Given the description of an element on the screen output the (x, y) to click on. 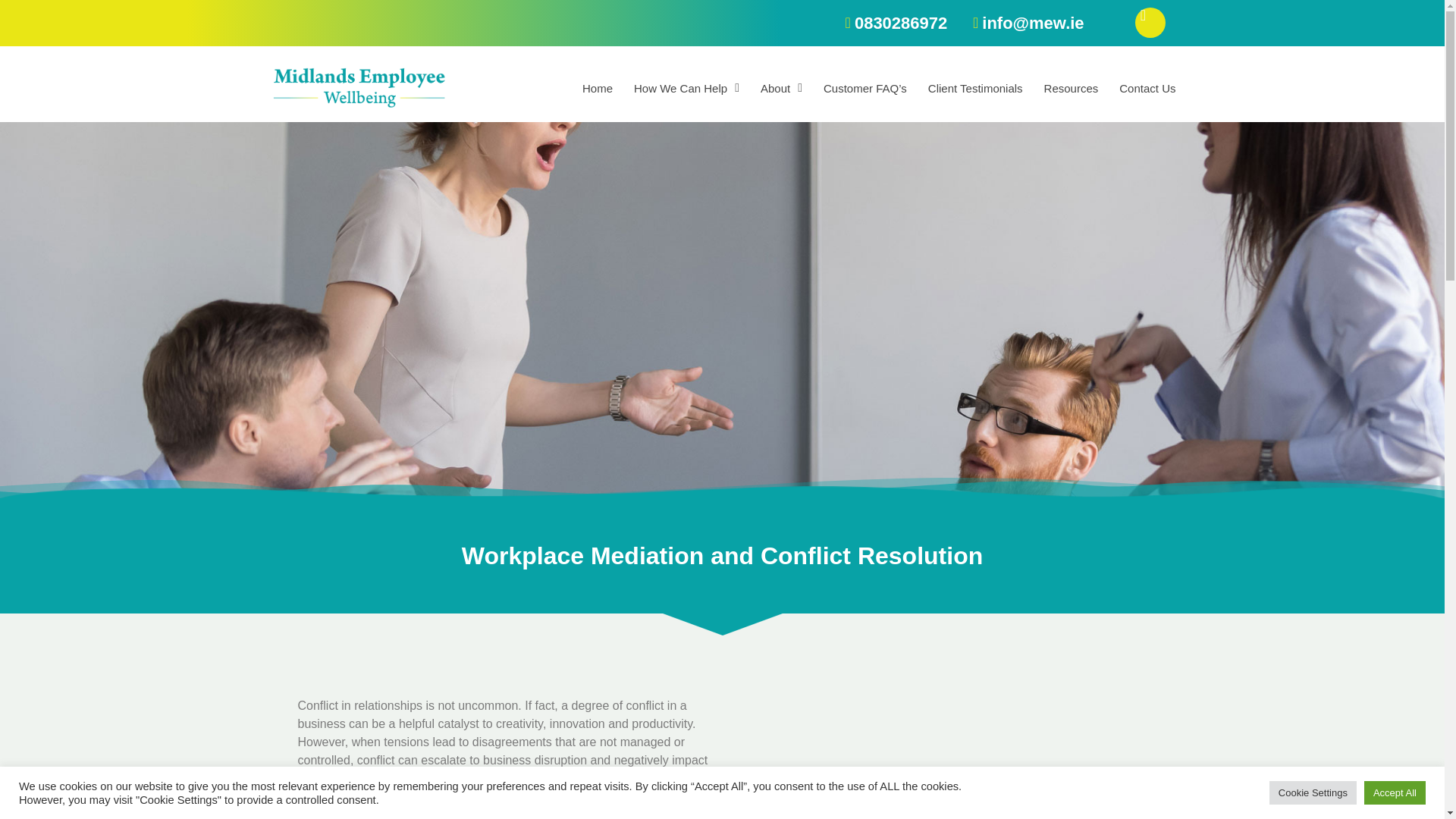
About (780, 87)
Cookie Settings (1312, 792)
Accept All (1394, 792)
Resources (1071, 87)
Client Testimonials (975, 87)
How We Can Help (686, 87)
Contact Us (1147, 87)
Home (597, 87)
